Given the description of an element on the screen output the (x, y) to click on. 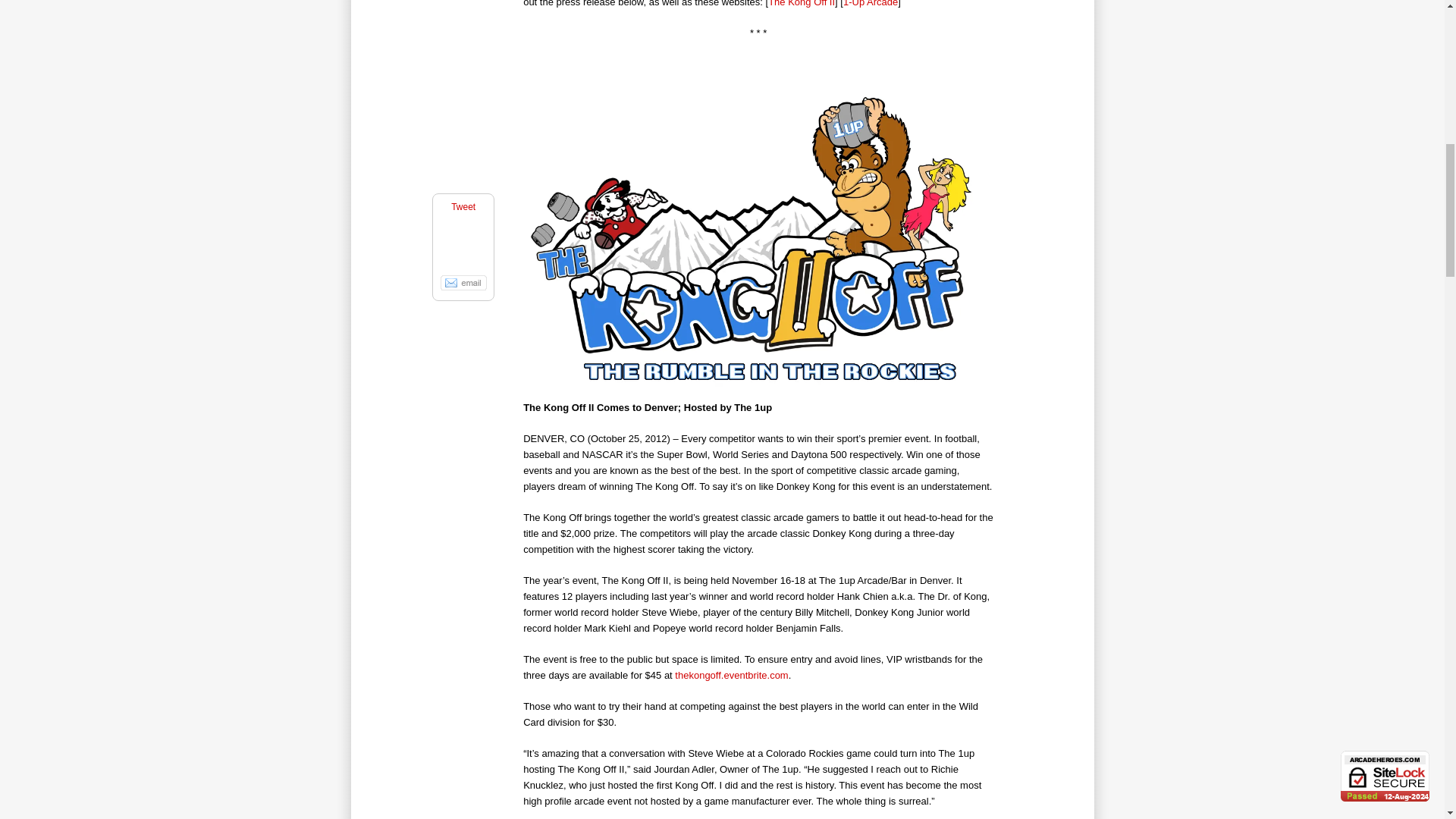
thekongoff.eventbrite.com (731, 674)
The Kong Off II (801, 3)
1-Up Arcade (870, 3)
